Given the description of an element on the screen output the (x, y) to click on. 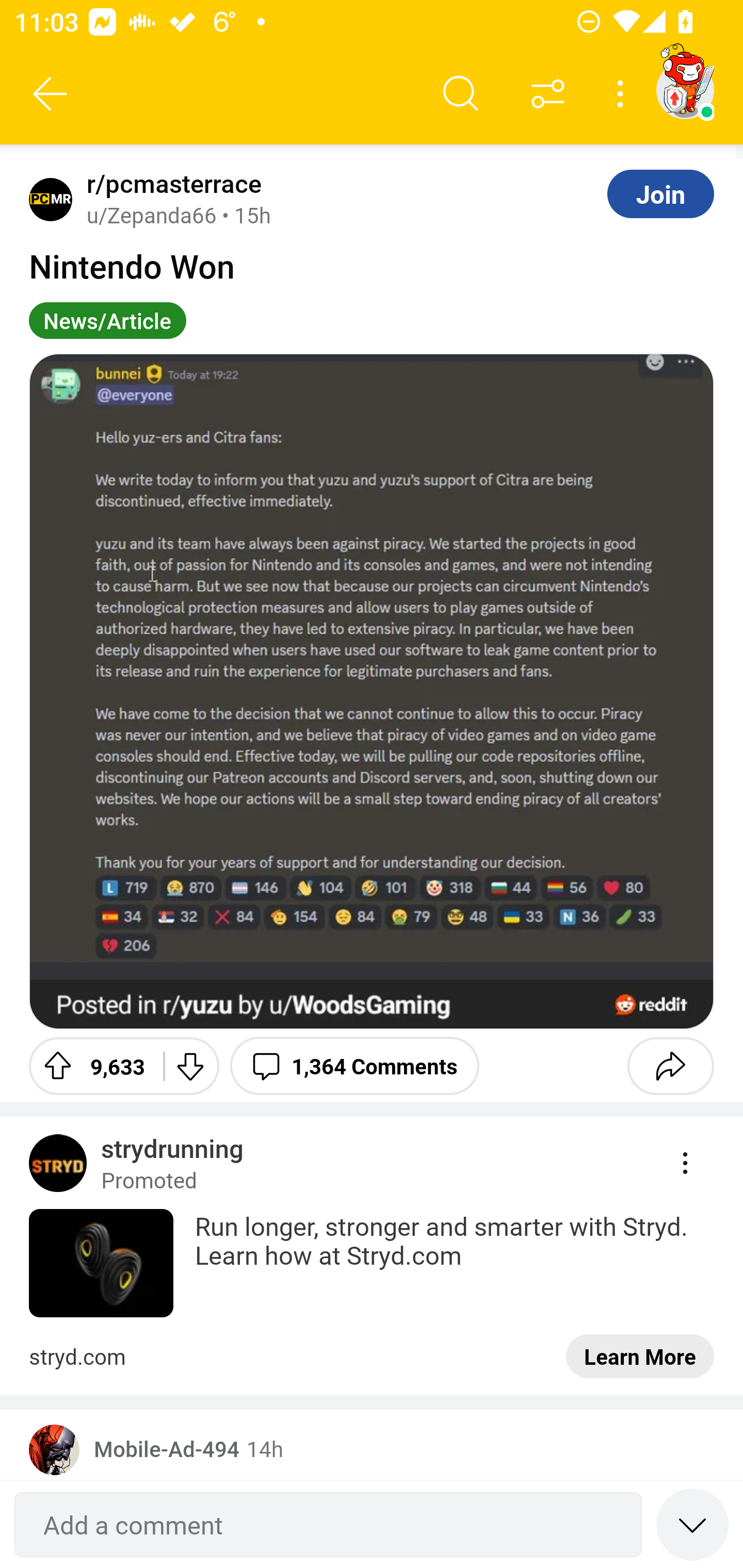
Back (50, 93)
TestAppium002 account (685, 90)
Search comments (460, 93)
Sort comments (547, 93)
More options (623, 93)
r/pcmasterrace (170, 183)
Join (660, 193)
Avatar (50, 199)
News/Article (107, 320)
Image (371, 691)
Upvote 9,633 (88, 1066)
Downvote (189, 1066)
1,364 Comments (354, 1066)
Share (670, 1066)
Avatar (53, 1449)
Speed read (692, 1524)
Add a comment (327, 1524)
